Given the description of an element on the screen output the (x, y) to click on. 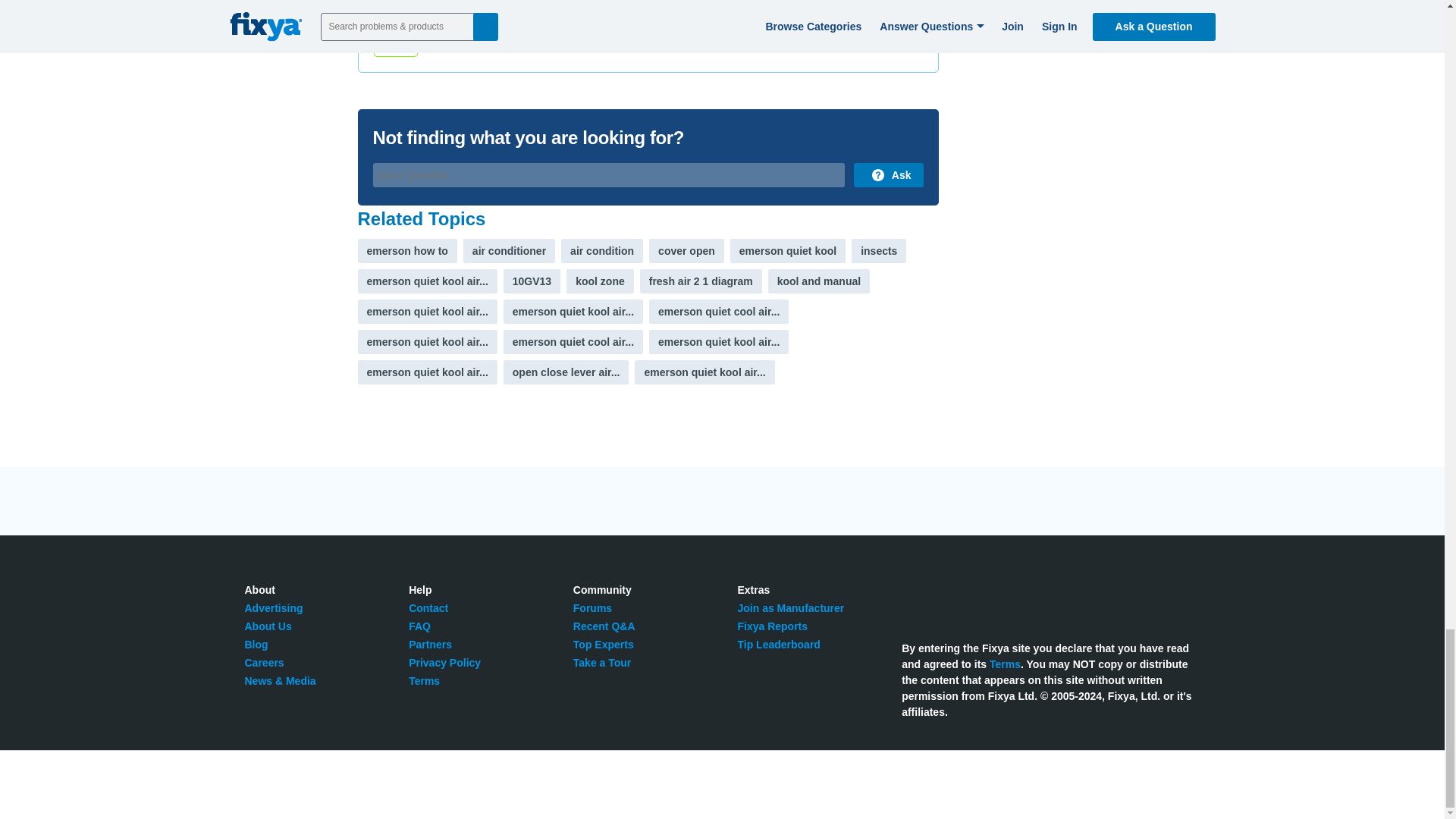
Ask (888, 174)
